Given the description of an element on the screen output the (x, y) to click on. 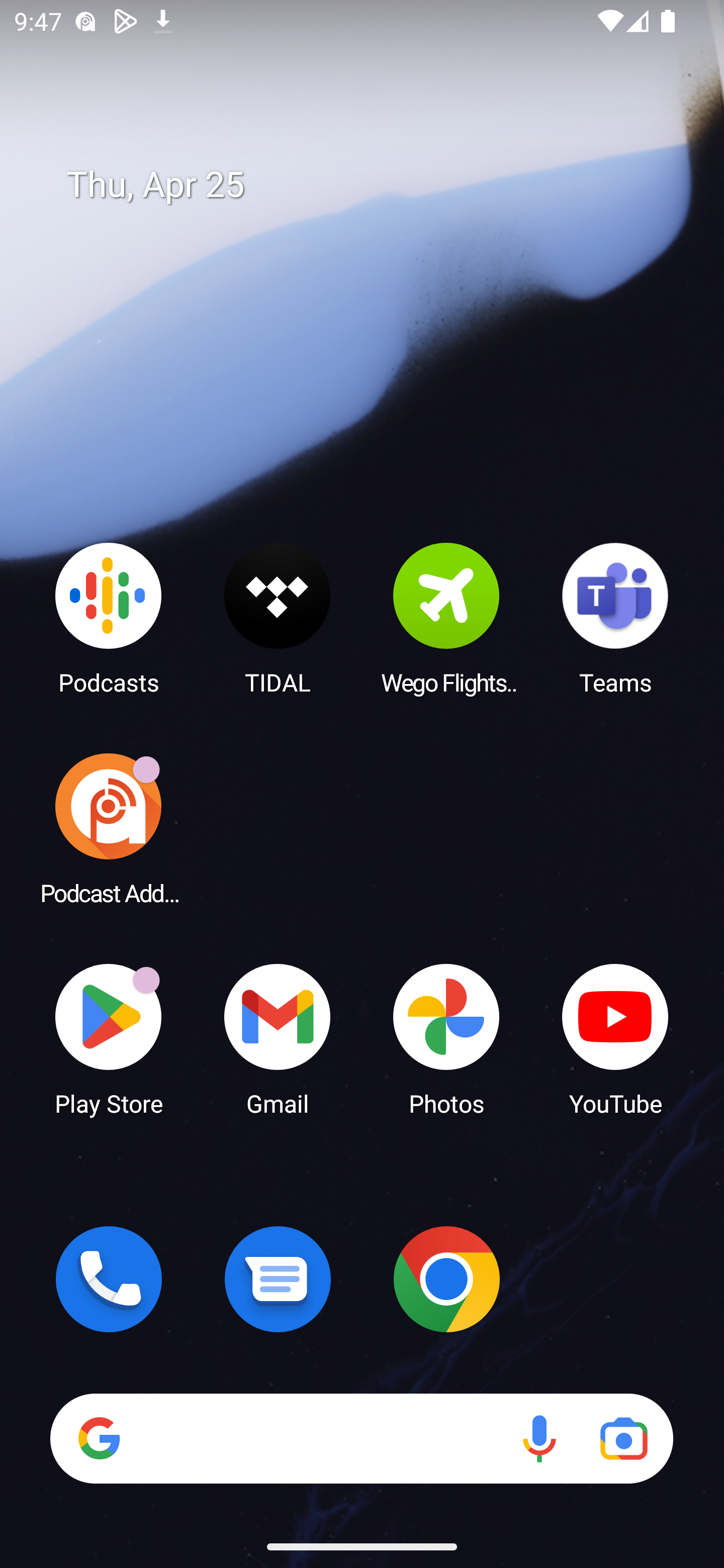
Thu, Apr 25 (375, 184)
Podcasts (108, 617)
TIDAL (277, 617)
Wego Flights & Hotels (445, 617)
Teams (615, 617)
Play Store Play Store has 1 notification (108, 1038)
Gmail (277, 1038)
Photos (445, 1038)
YouTube (615, 1038)
Phone (108, 1279)
Messages (277, 1279)
Chrome (446, 1279)
Search Voice search Google Lens (361, 1438)
Voice search (539, 1438)
Google Lens (623, 1438)
